Given the description of an element on the screen output the (x, y) to click on. 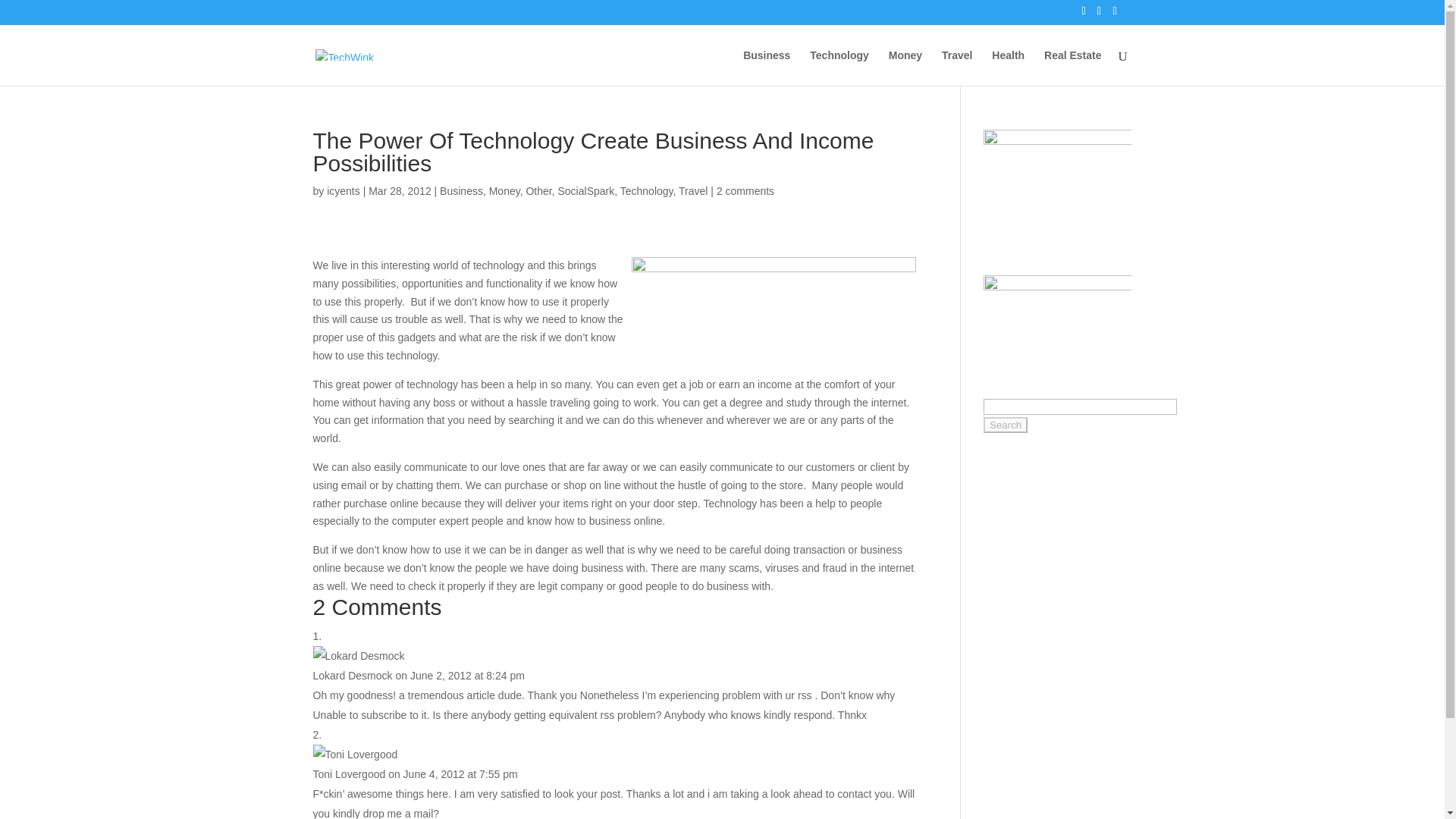
Search (1005, 424)
Money (904, 67)
Technology (839, 67)
icyents (342, 191)
SocialSpark (585, 191)
Technology (646, 191)
Travel (692, 191)
Posts by icyents (342, 191)
Search (1005, 424)
Travel (957, 67)
Other (538, 191)
Business (766, 67)
techonology create business (773, 313)
Business (461, 191)
2 comments (745, 191)
